Given the description of an element on the screen output the (x, y) to click on. 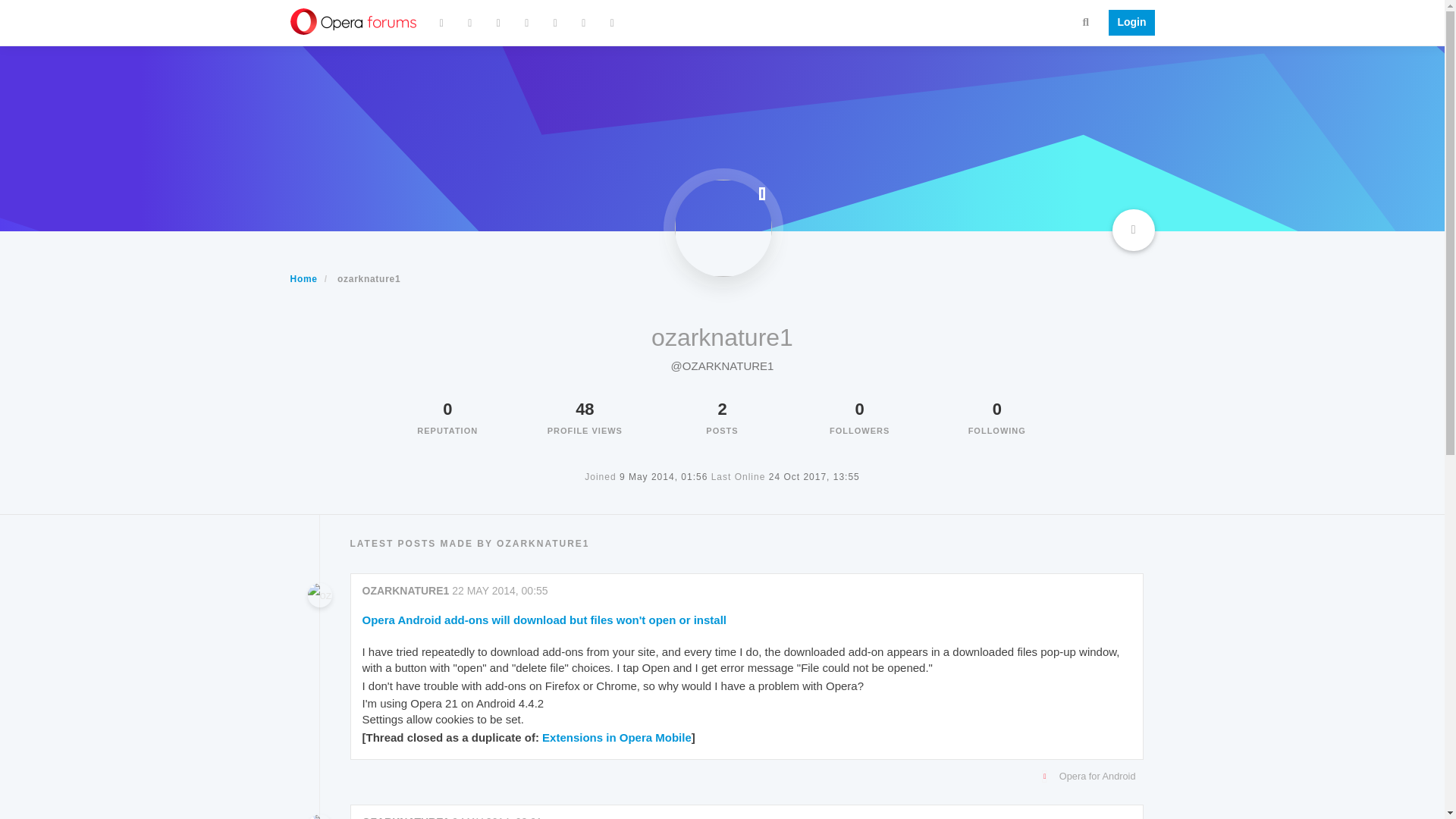
Login (1127, 22)
0 (996, 408)
2 (721, 408)
Offline (761, 193)
0 (860, 408)
Home (303, 278)
Search (1085, 21)
